Given the description of an element on the screen output the (x, y) to click on. 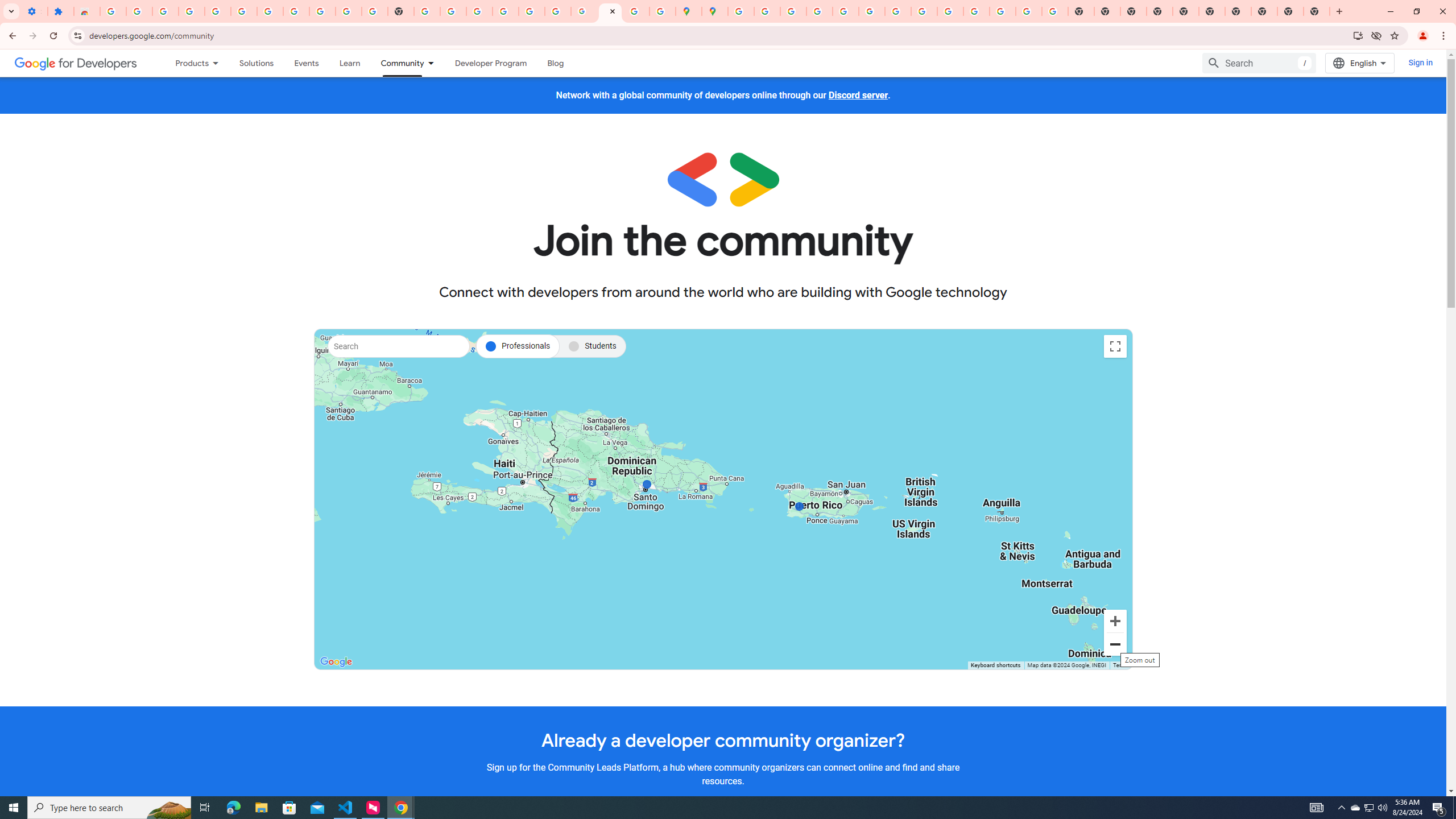
English (1359, 63)
Minimize (1390, 11)
Already a developer community organizer? (722, 739)
Extensions (60, 11)
Third-party cookies blocked (1376, 35)
Address and search bar (717, 35)
Settings - On startup (34, 11)
Blog (556, 62)
Reviews: Helix Fruit Jump Arcade Game (86, 11)
Zoom in (1114, 620)
System (6, 6)
Search tabs (10, 11)
Terms (1120, 665)
